Given the description of an element on the screen output the (x, y) to click on. 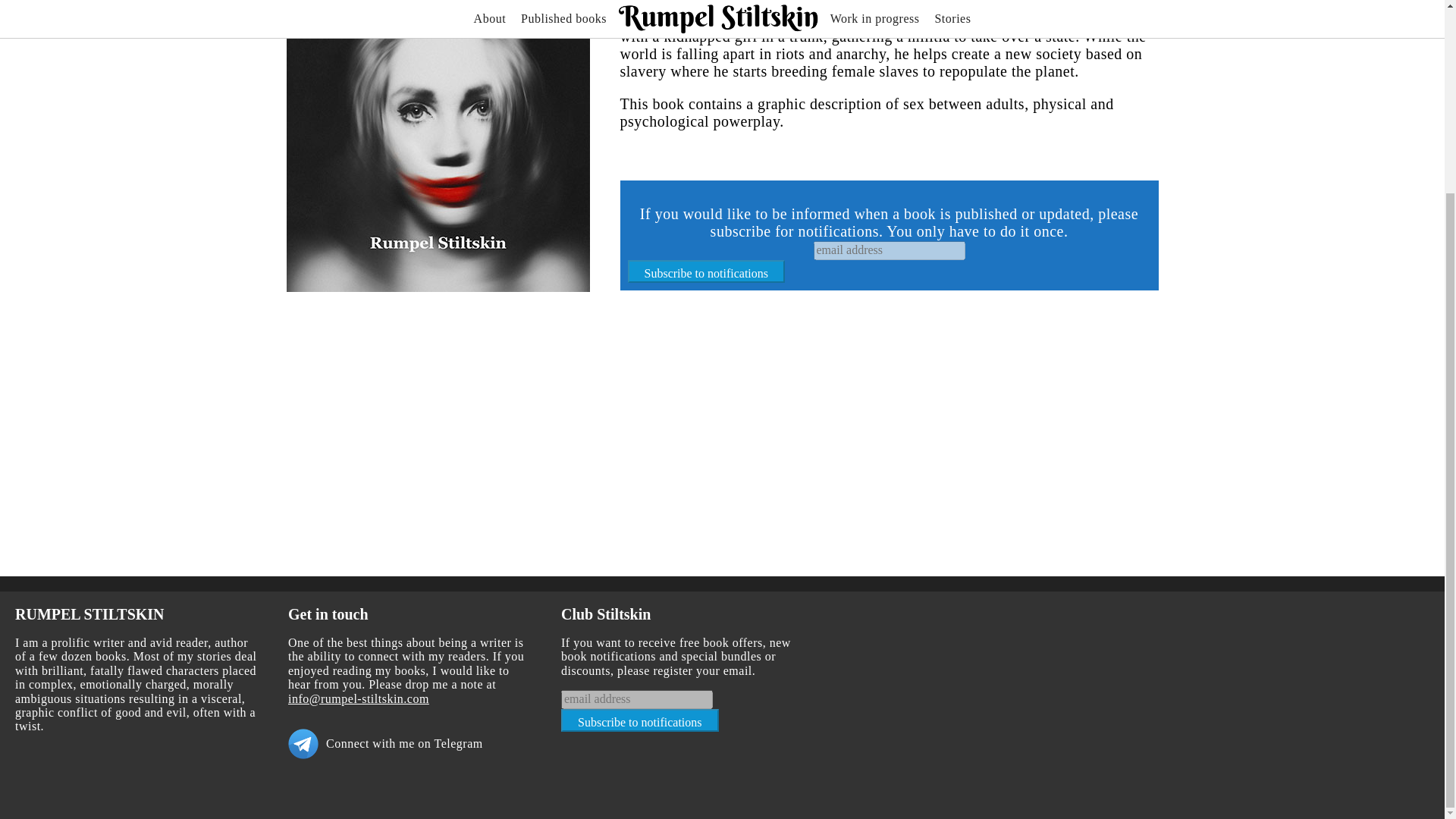
Subscribe to notifications (706, 271)
Connect with me on Telegram (409, 743)
Subscribe to notifications (639, 720)
Subscribe to notifications (639, 720)
Subscribe to notifications (706, 271)
